Given the description of an element on the screen output the (x, y) to click on. 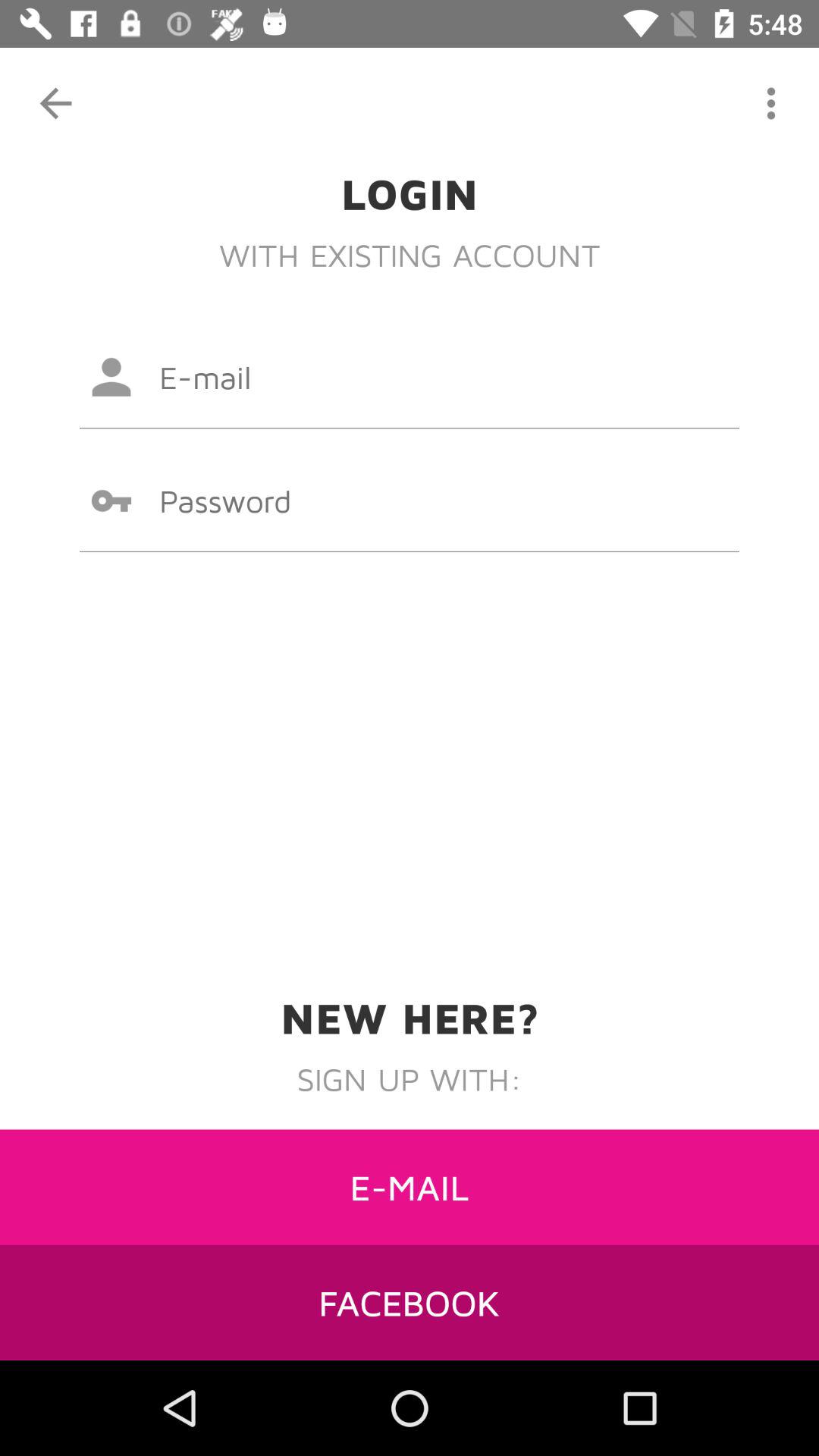
email input (409, 376)
